Given the description of an element on the screen output the (x, y) to click on. 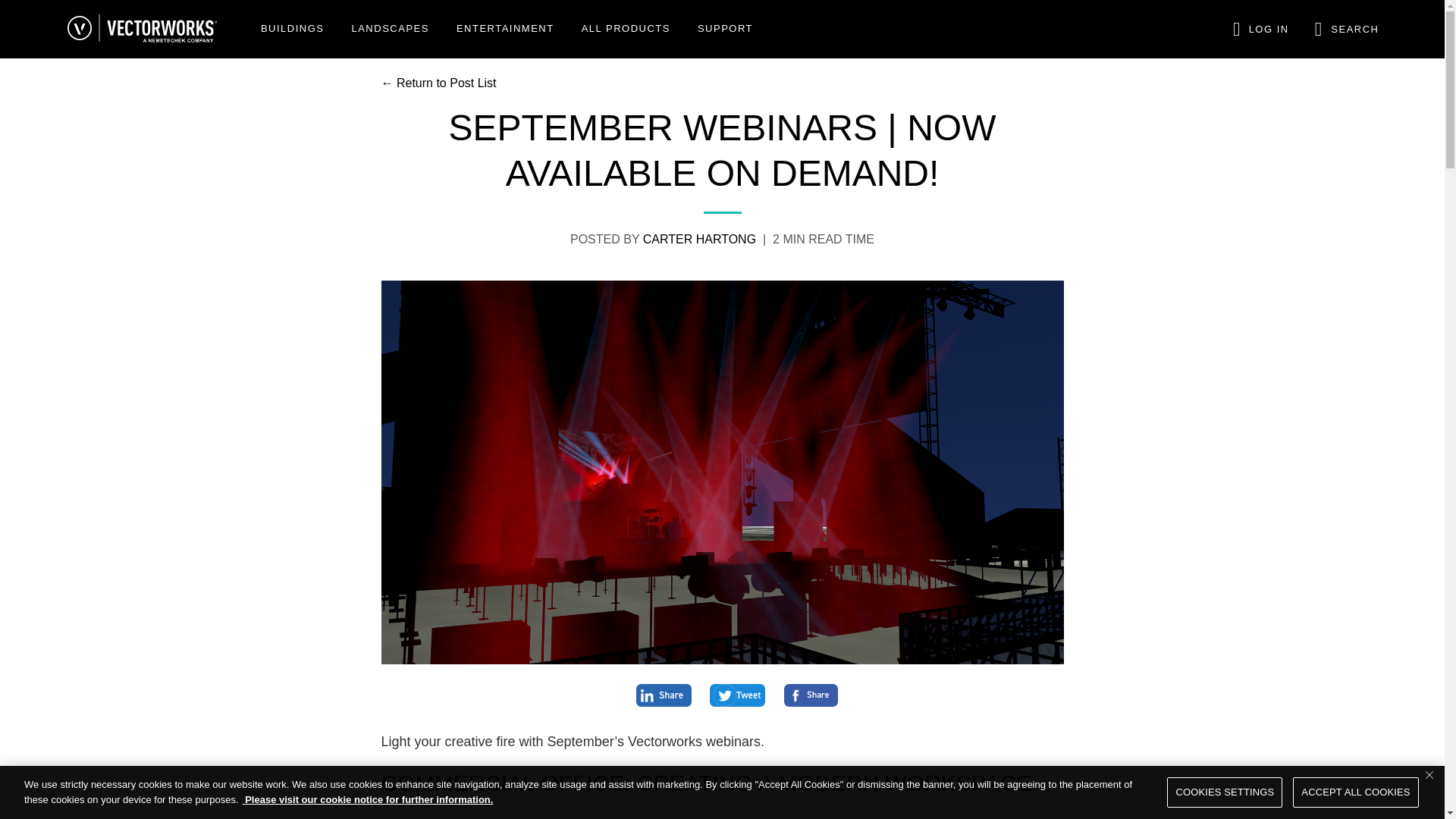
SEARCH (1347, 29)
LOG IN (1256, 28)
CARTER HARTONG (699, 237)
ALL PRODUCTS (625, 29)
LANDSCAPES (389, 29)
ENTERTAINMENT (504, 29)
BUILDINGS (292, 29)
SUPPORT (725, 29)
